Given the description of an element on the screen output the (x, y) to click on. 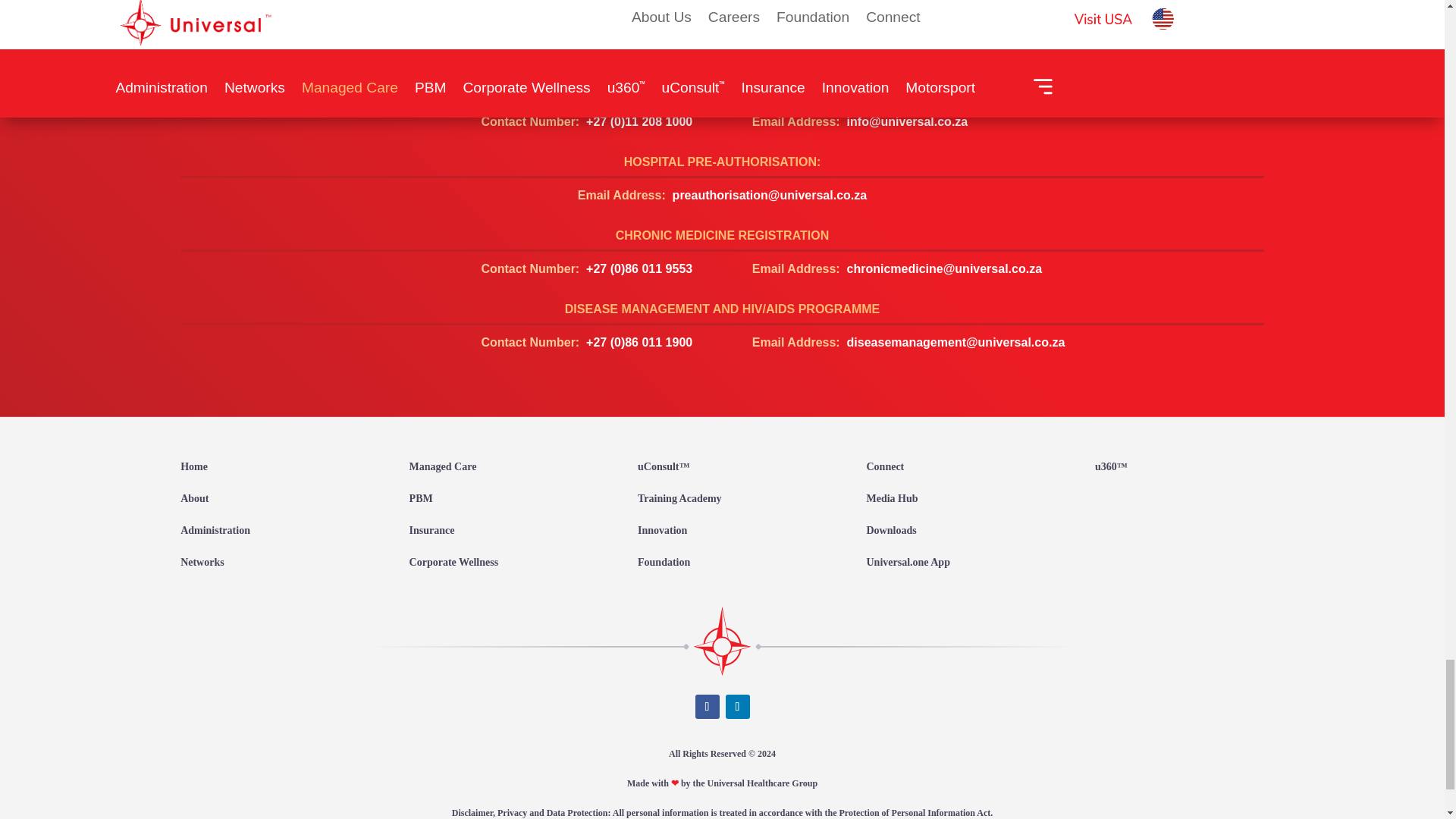
div-footer (721, 640)
Follow on LinkedIn (737, 706)
Follow on Facebook (706, 706)
Request a Call Back (721, 78)
